Given the description of an element on the screen output the (x, y) to click on. 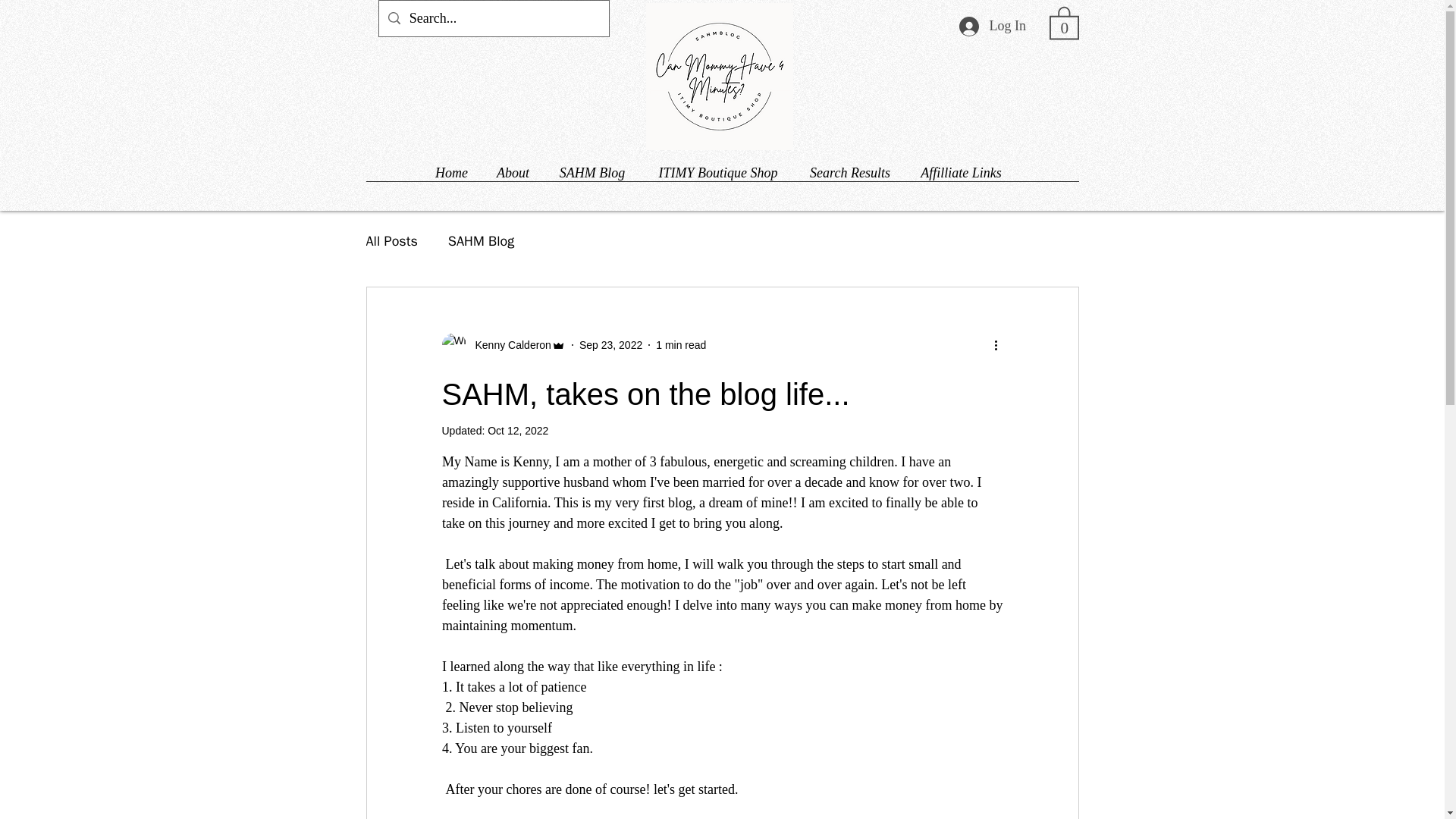
Log In (991, 26)
Embedded Content (728, 76)
Sep 23, 2022 (610, 344)
Kenny Calderon (502, 344)
Search Results (849, 166)
All Posts (390, 240)
ITIMY Boutique Shop (717, 166)
Affilliate Links (960, 166)
Oct 12, 2022 (517, 430)
Home (450, 166)
